Given the description of an element on the screen output the (x, y) to click on. 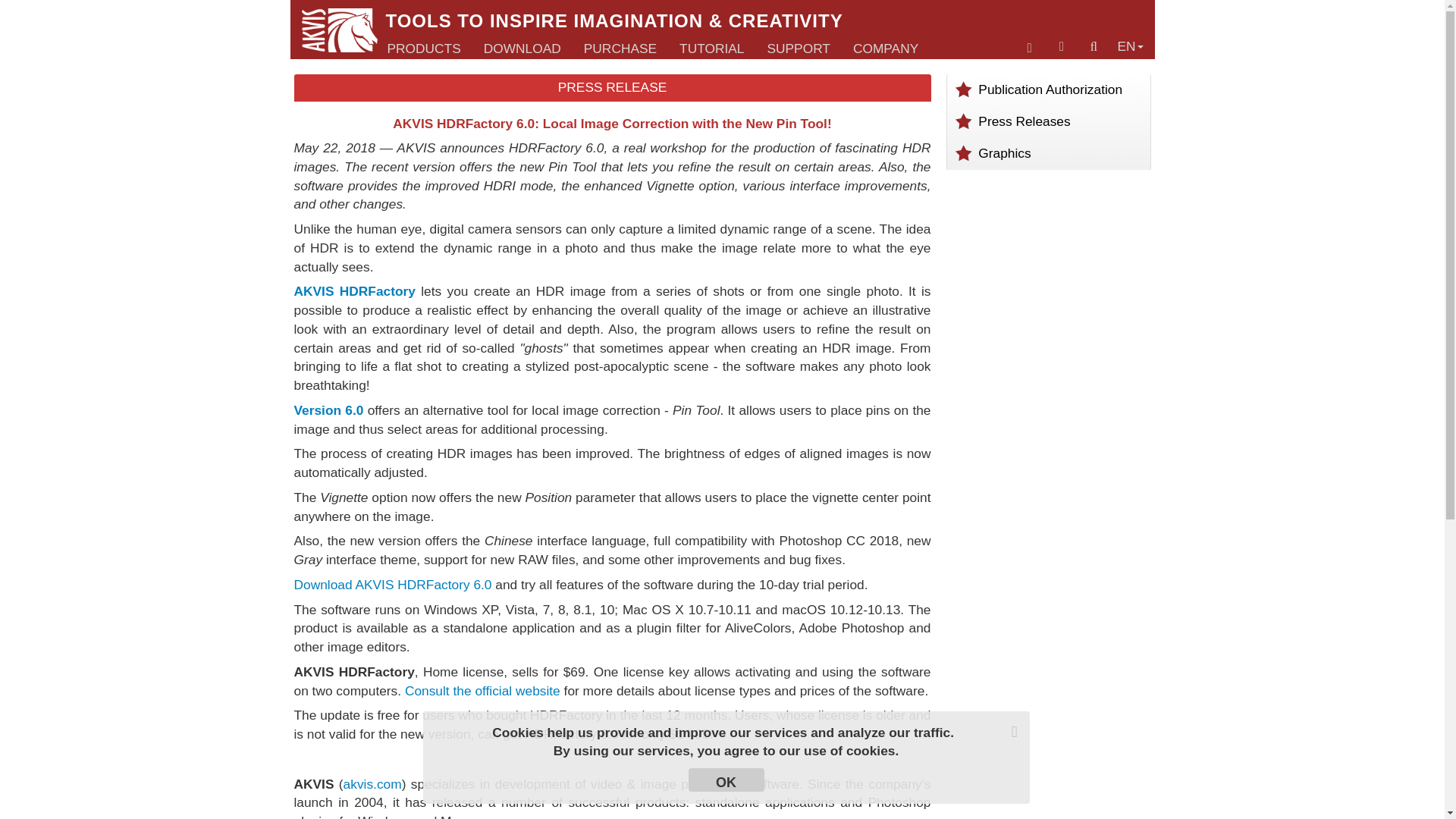
EN (1129, 46)
PRODUCTS (423, 48)
Shopping Cart (1030, 47)
Sign In (1061, 46)
OK (726, 779)
Search (1093, 46)
